Given the description of an element on the screen output the (x, y) to click on. 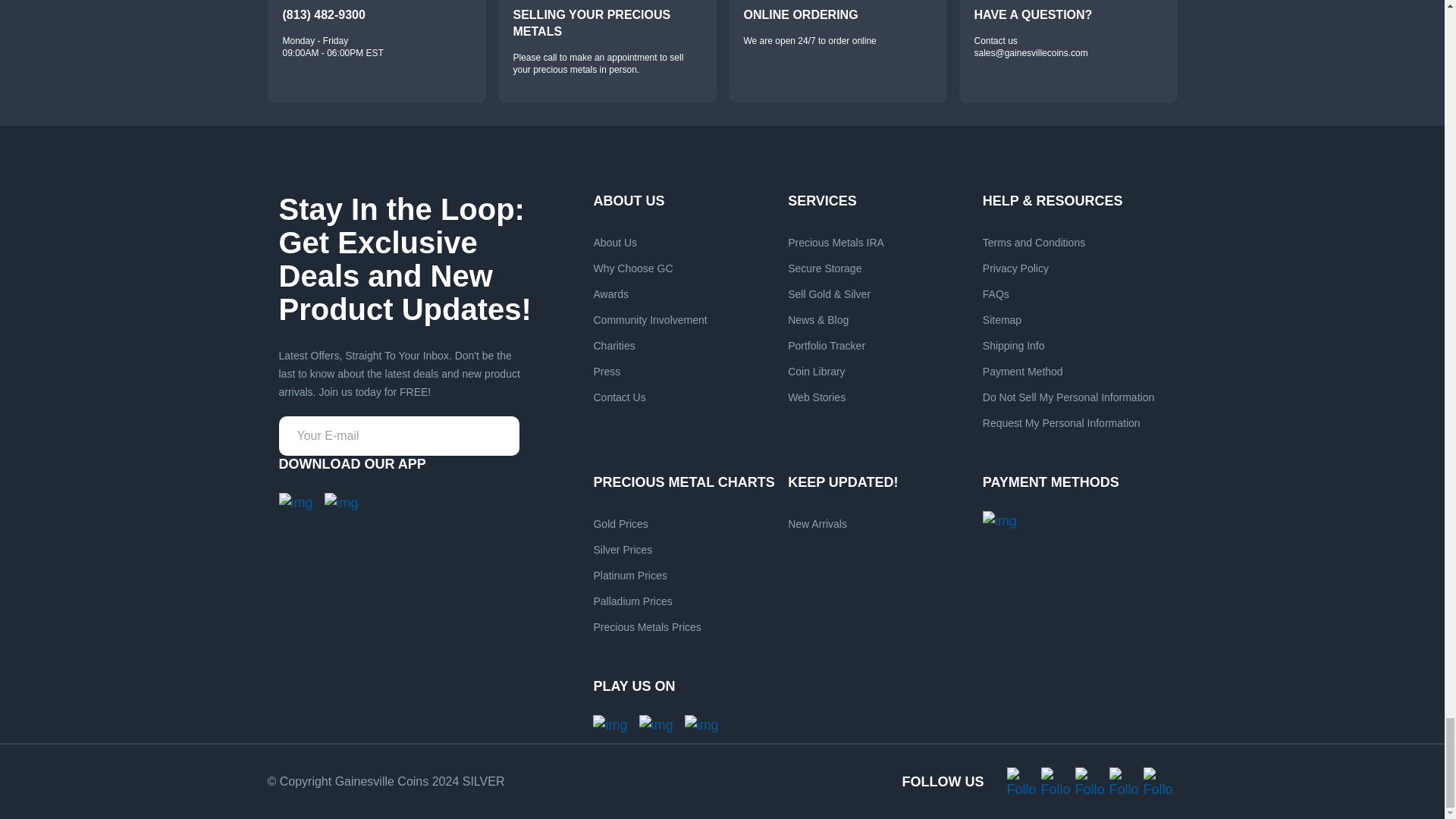
Gainesville Coins On Apple Store (341, 503)
Gainesville Coins on Android Store (296, 503)
